Given the description of an element on the screen output the (x, y) to click on. 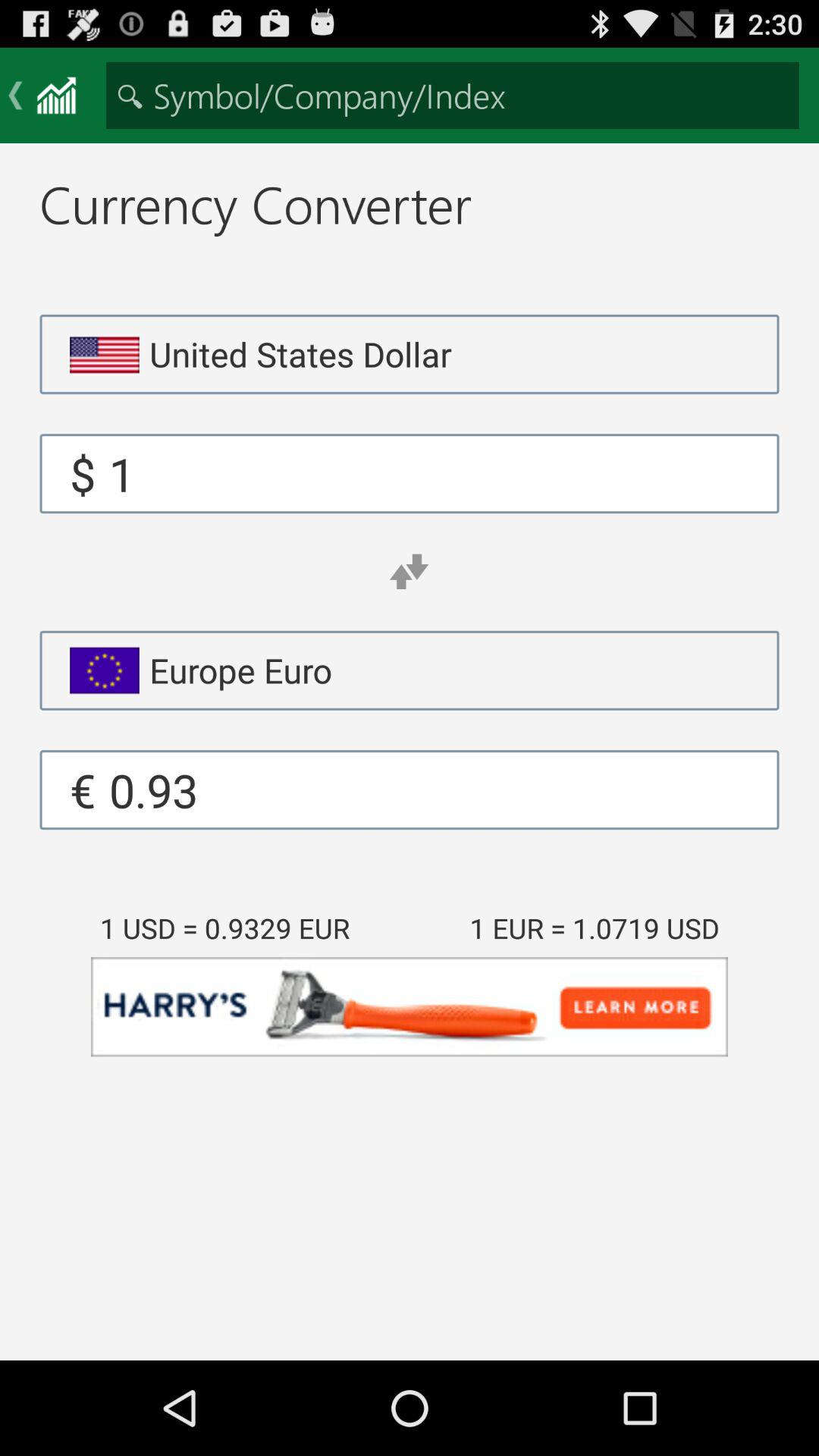
press app above the europe euro app (409, 571)
